Given the description of an element on the screen output the (x, y) to click on. 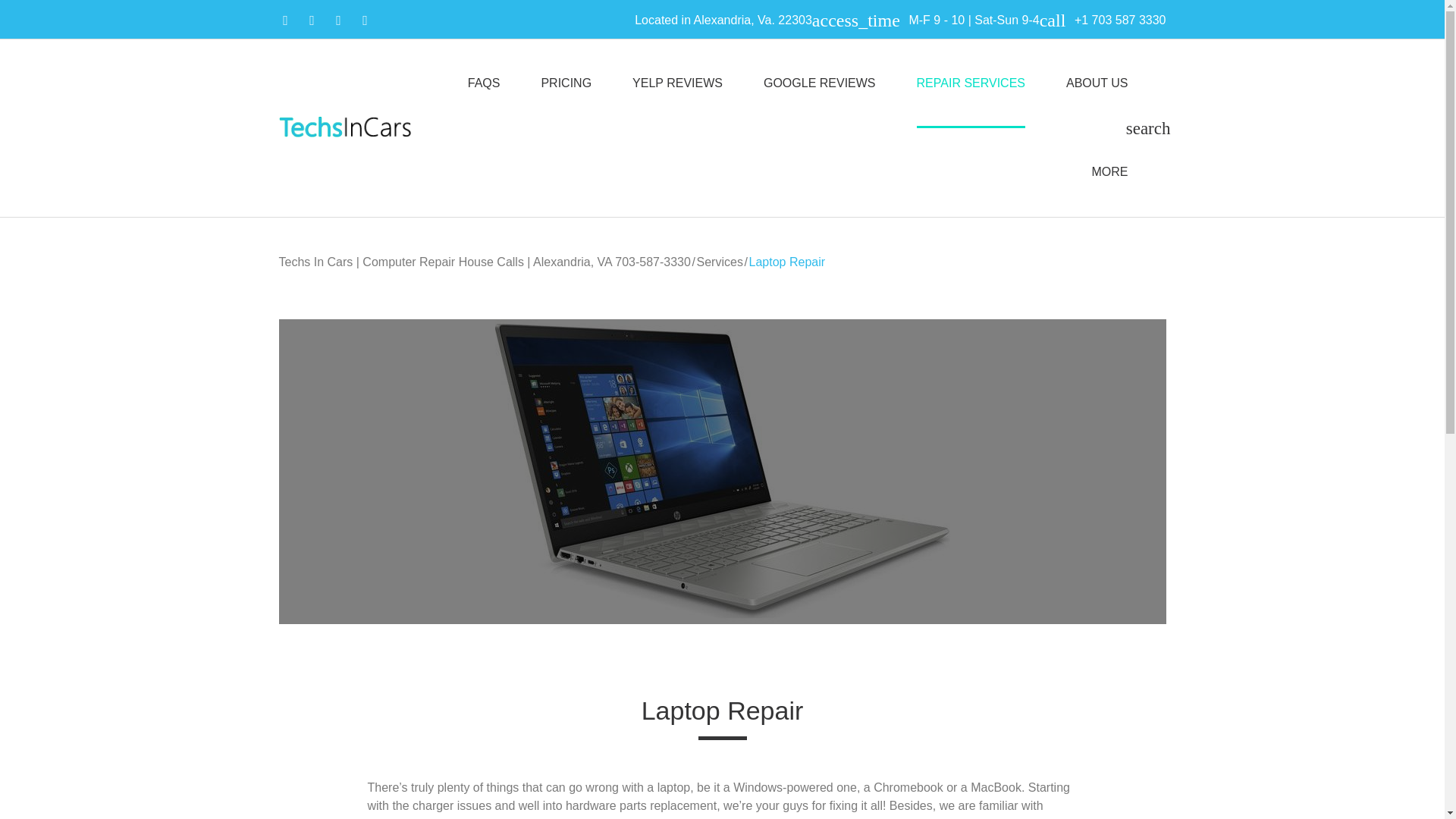
Services (719, 261)
FAQS (483, 83)
Twitter (338, 20)
Services (719, 261)
GOOGLE REVIEWS (819, 83)
REPAIR SERVICES (971, 83)
YELP REVIEWS (676, 83)
Google (364, 20)
Facebook (285, 20)
PRICING (565, 83)
MORE (1110, 171)
ABOUT US (1096, 83)
Yelp (311, 20)
